Given the description of an element on the screen output the (x, y) to click on. 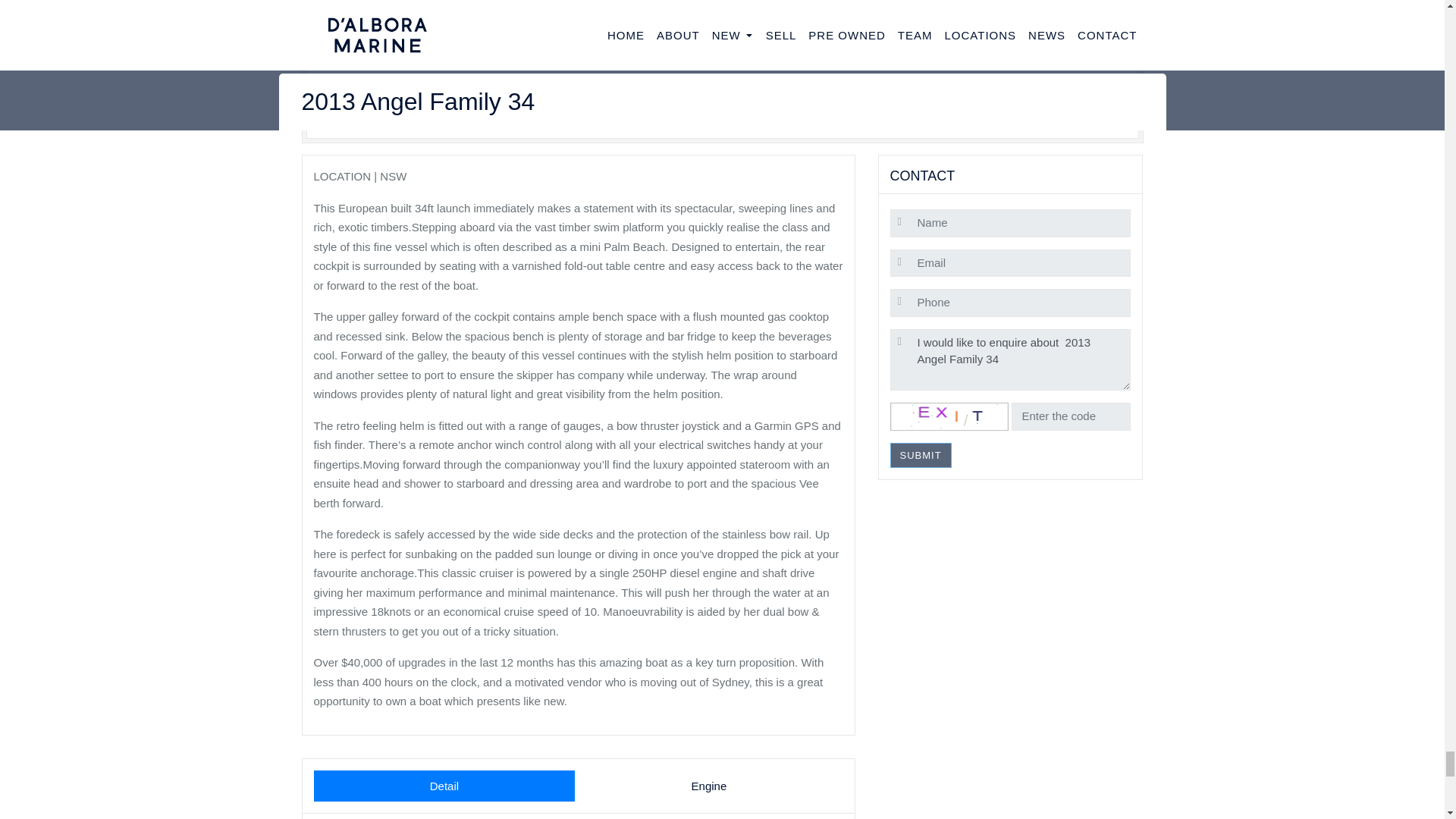
SUBMIT (920, 455)
Detail (444, 786)
Engine (709, 786)
